Given the description of an element on the screen output the (x, y) to click on. 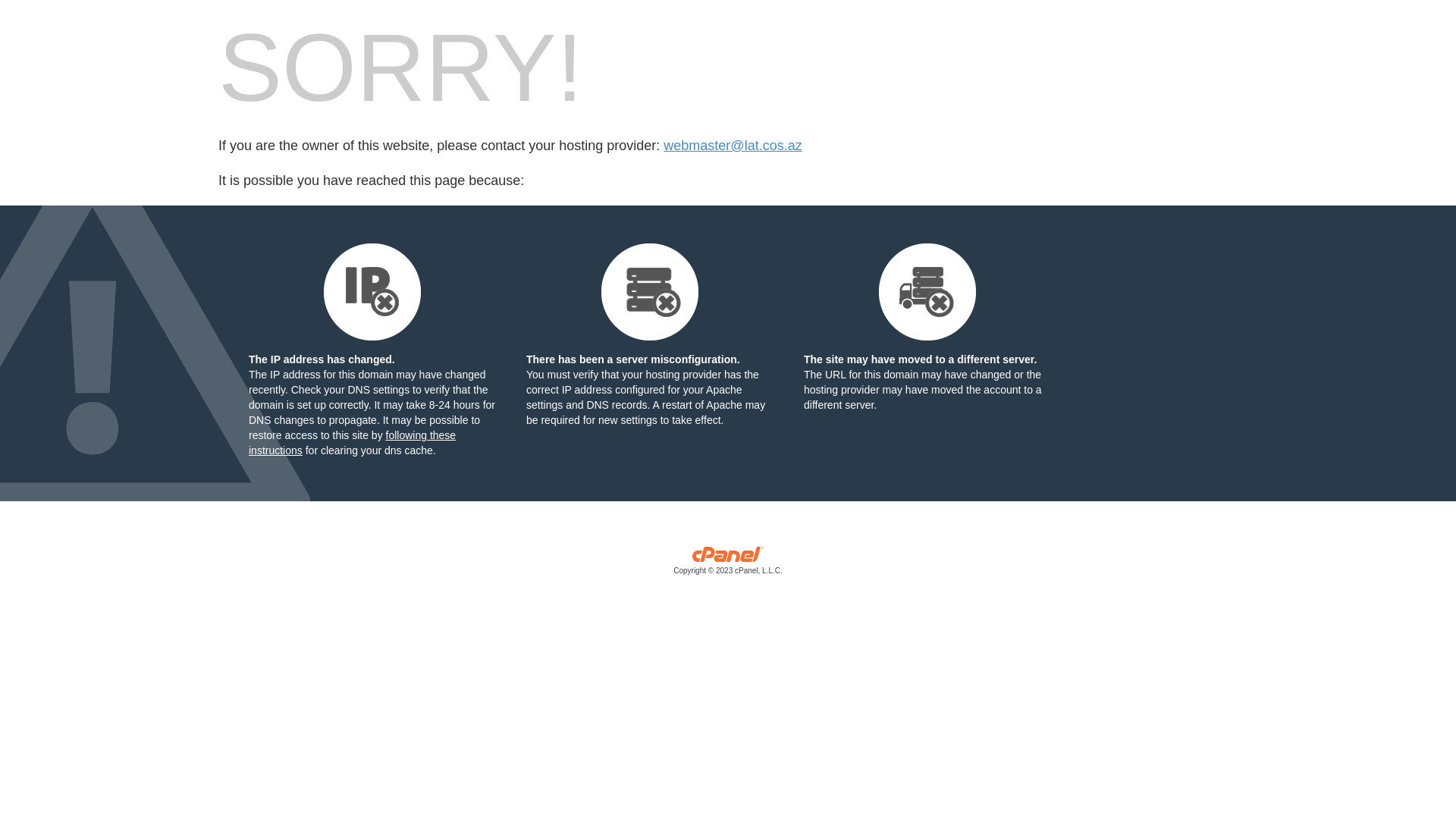
webmaster@lat.cos.az Element type: text (732, 145)
following these instructions Element type: text (351, 442)
